Given the description of an element on the screen output the (x, y) to click on. 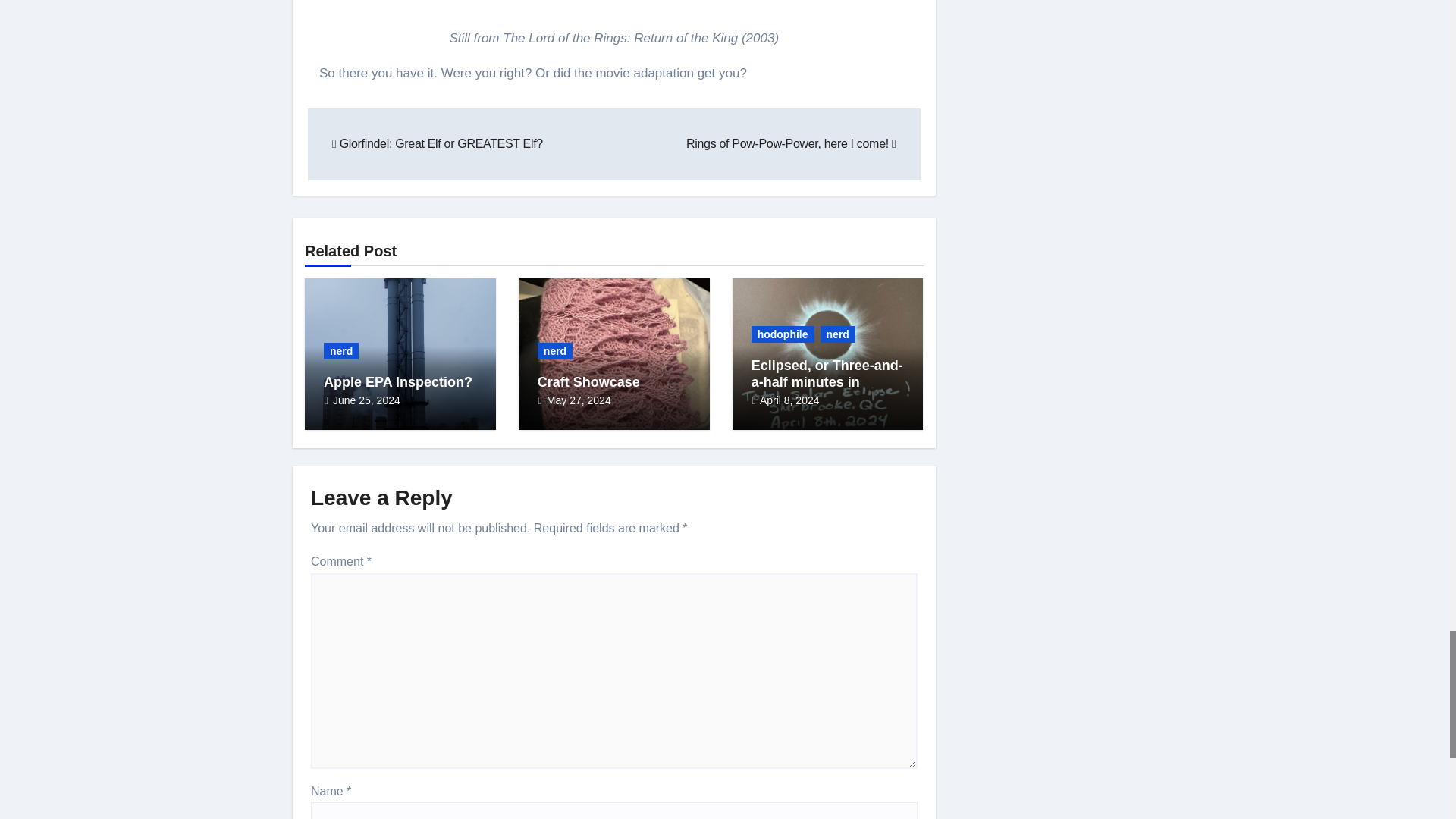
Permalink to: Craft Showcase (588, 381)
Apple EPA Inspection? (397, 381)
nerd (838, 334)
Glorfindel: Great Elf or GREATEST Elf? (437, 143)
Rings of Pow-Pow-Power, here I come! (790, 143)
nerd (340, 351)
Eclipsed, or Three-and-a-half minutes in Totality (826, 381)
May 27, 2024 (579, 399)
hodophile (782, 334)
Craft Showcase (588, 381)
June 25, 2024 (366, 399)
April 8, 2024 (789, 399)
Permalink to: Apple EPA Inspection? (397, 381)
nerd (554, 351)
